Given the description of an element on the screen output the (x, y) to click on. 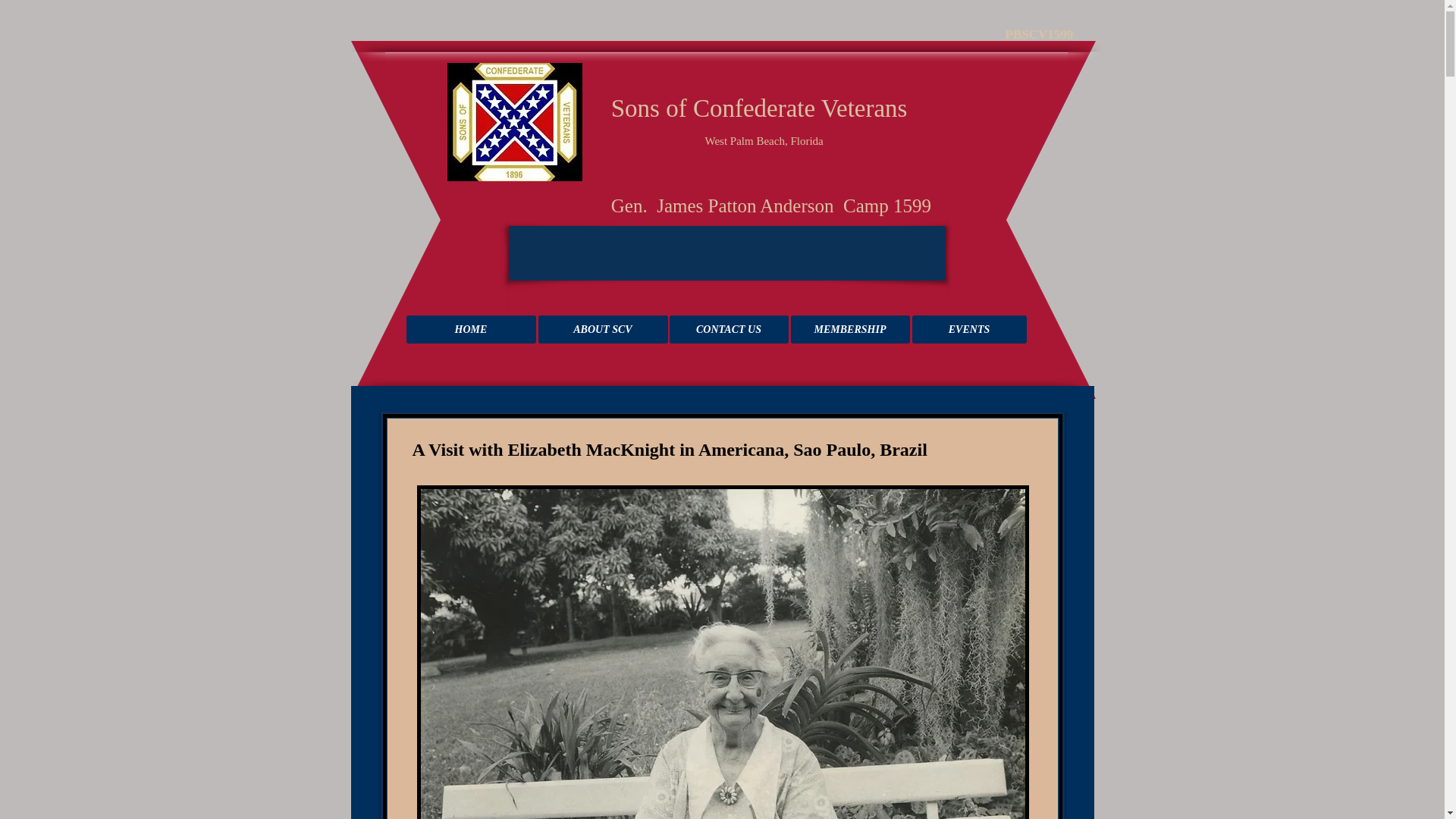
West Palm Beach, Florida (764, 141)
             Sons of Confederate Veterans (718, 108)
SCV.jpg (514, 121)
